Given the description of an element on the screen output the (x, y) to click on. 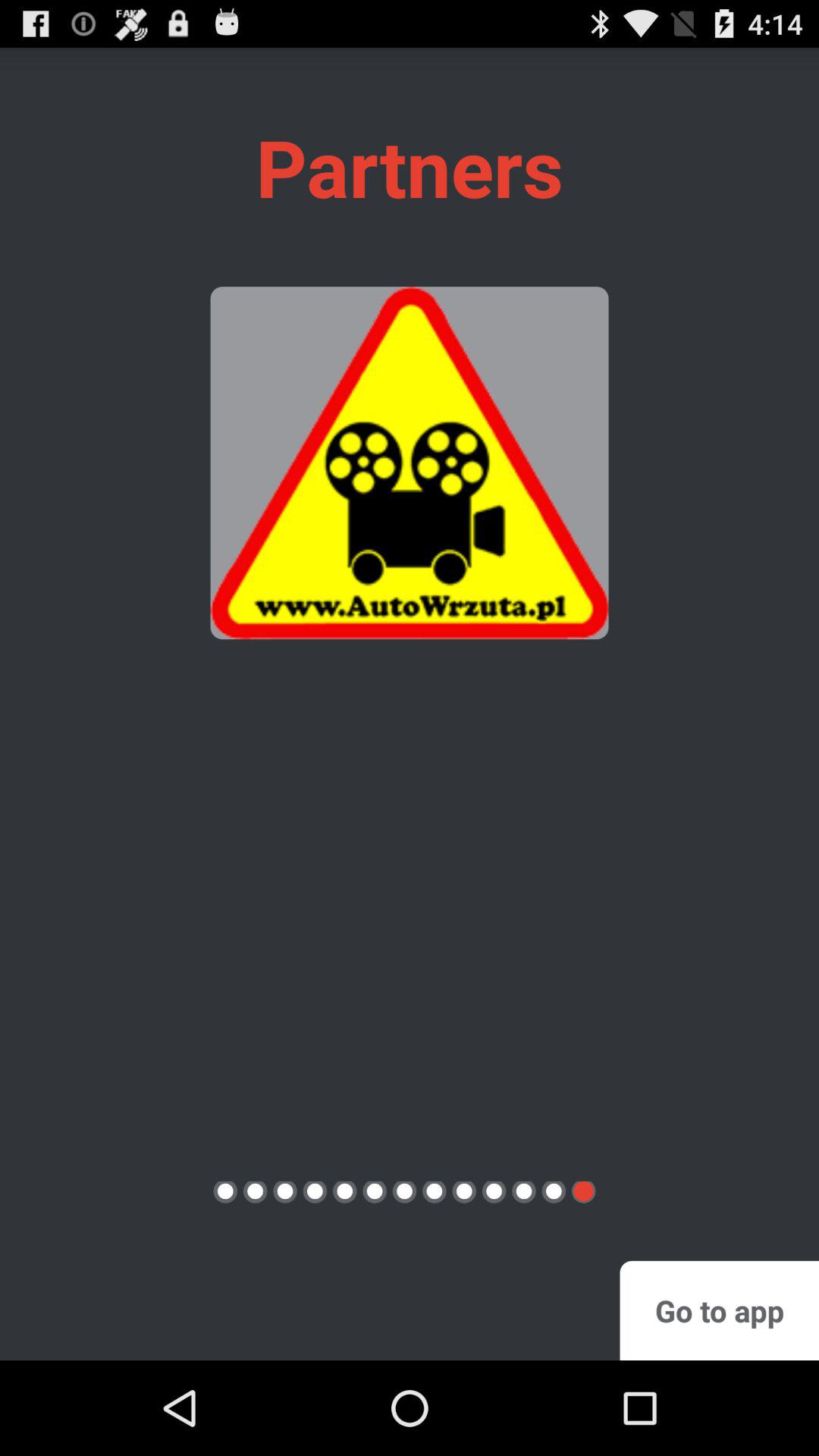
scroll to the go to app item (719, 1310)
